Given the description of an element on the screen output the (x, y) to click on. 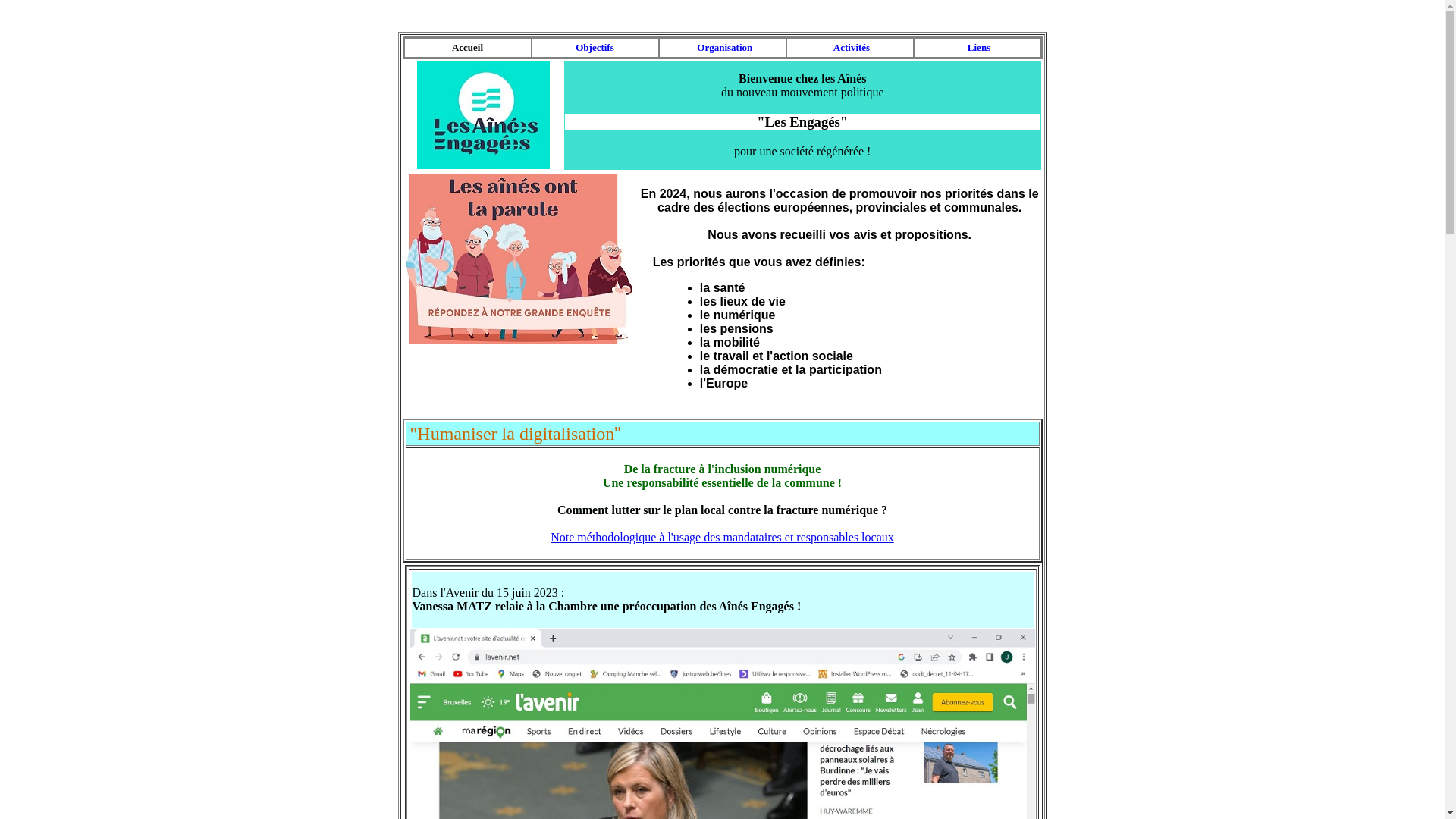
Liens Element type: text (978, 46)
Organisation Element type: text (724, 47)
Objectifs Element type: text (594, 46)
